Given the description of an element on the screen output the (x, y) to click on. 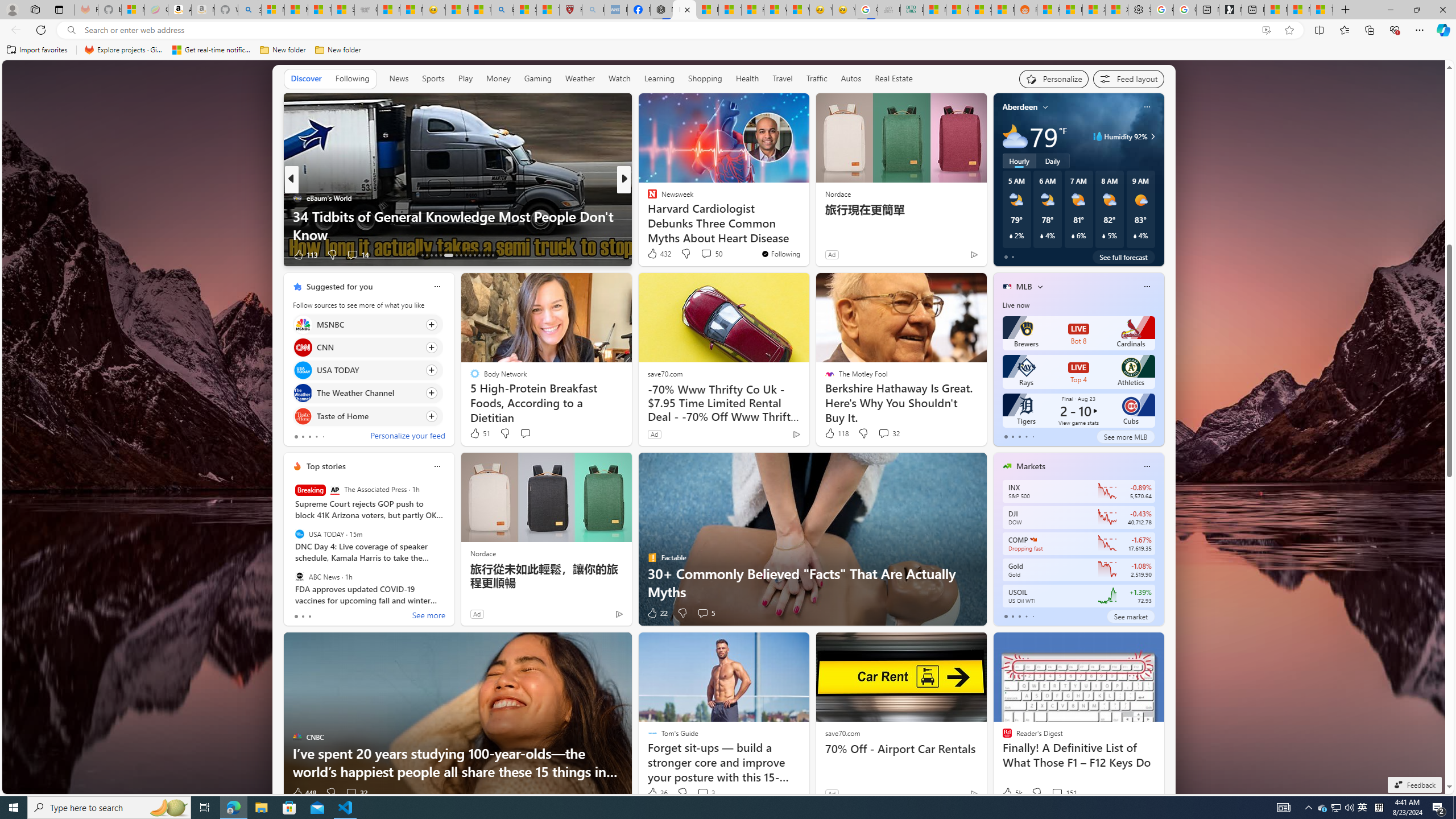
See full forecast (1123, 256)
Science - MSN (525, 9)
New folder (337, 49)
View comments 7 Comment (698, 254)
View comments 29 Comment (707, 254)
Hourly (1018, 160)
View comments 28 Comment (698, 254)
INSIDER (647, 197)
More interests (1039, 286)
